Given the description of an element on the screen output the (x, y) to click on. 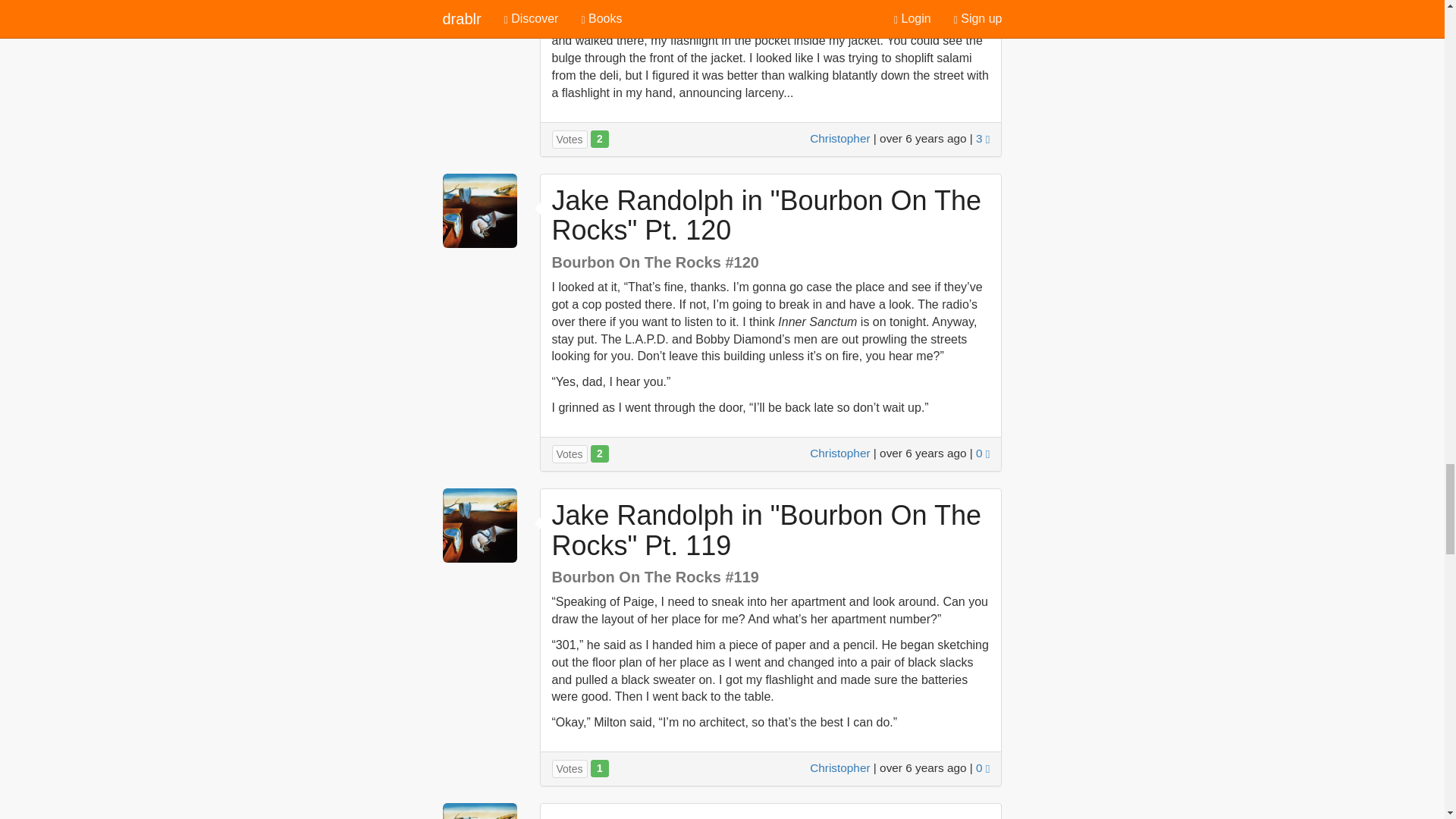
Comments (982, 452)
Comments (982, 767)
Comments (982, 137)
